Given the description of an element on the screen output the (x, y) to click on. 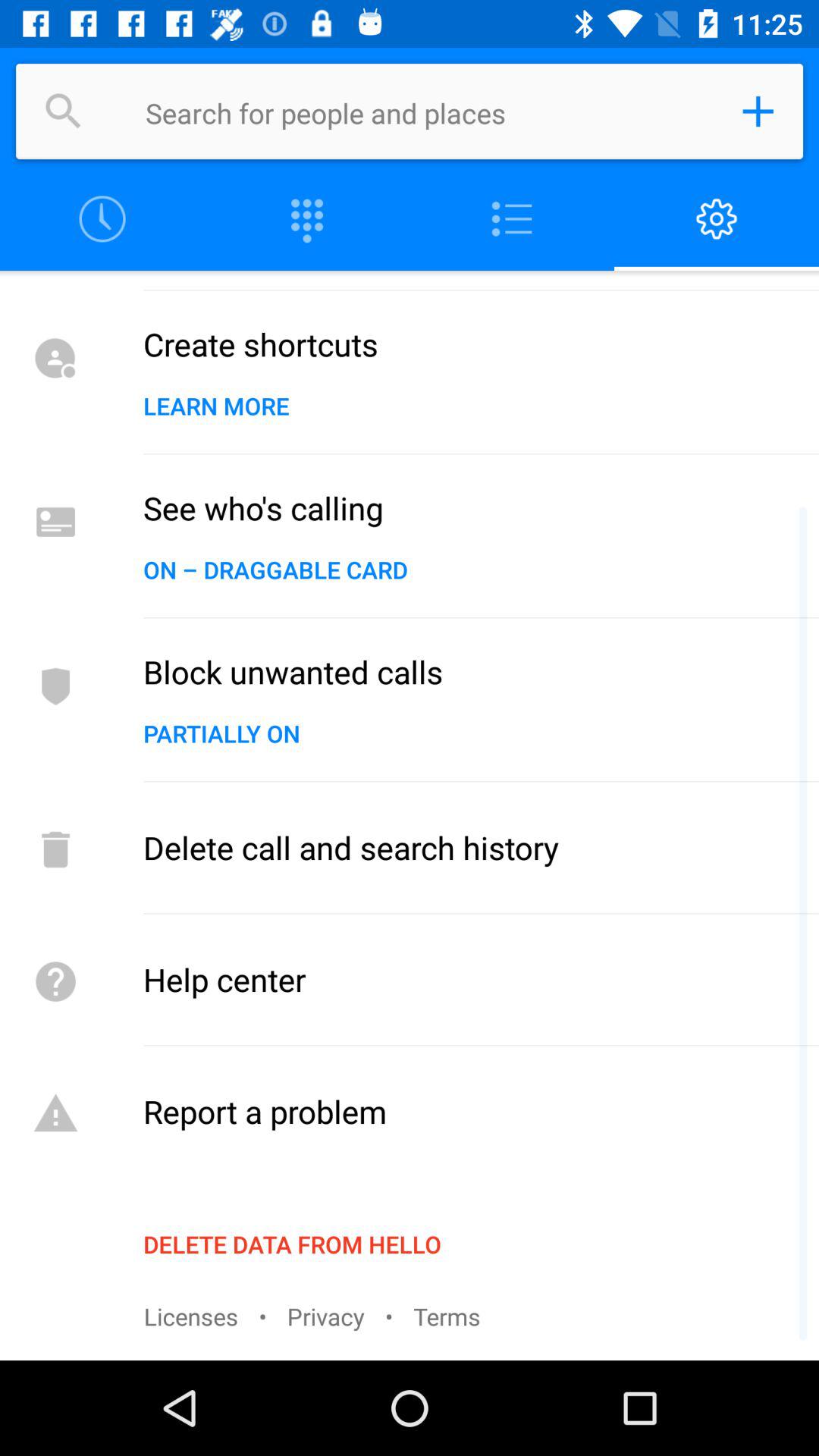
turn off the icon below the report a problem (292, 1244)
